Given the description of an element on the screen output the (x, y) to click on. 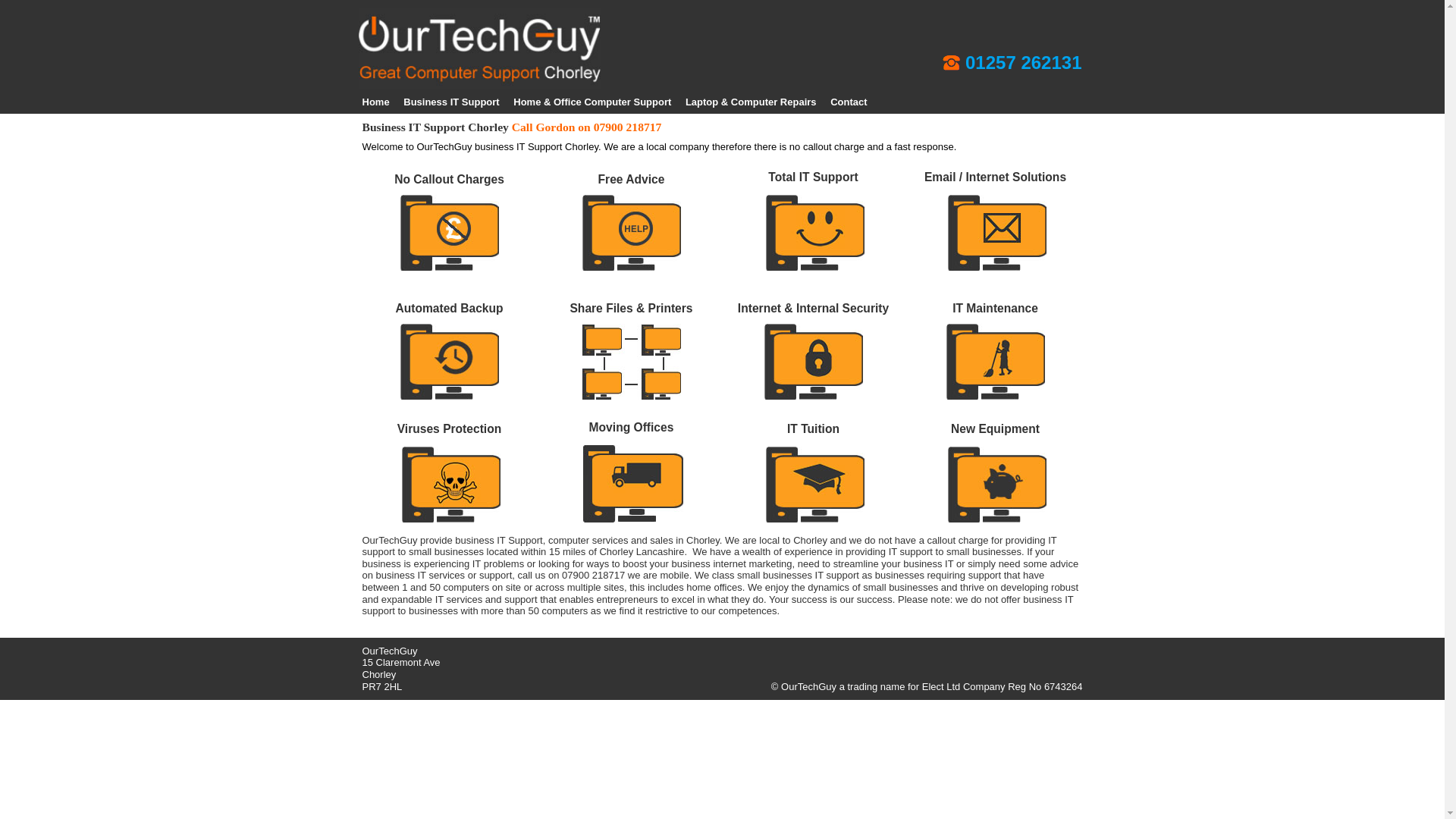
Home (376, 101)
01257 262131 (1023, 63)
Contact (847, 101)
Business IT Support (451, 101)
